Given the description of an element on the screen output the (x, y) to click on. 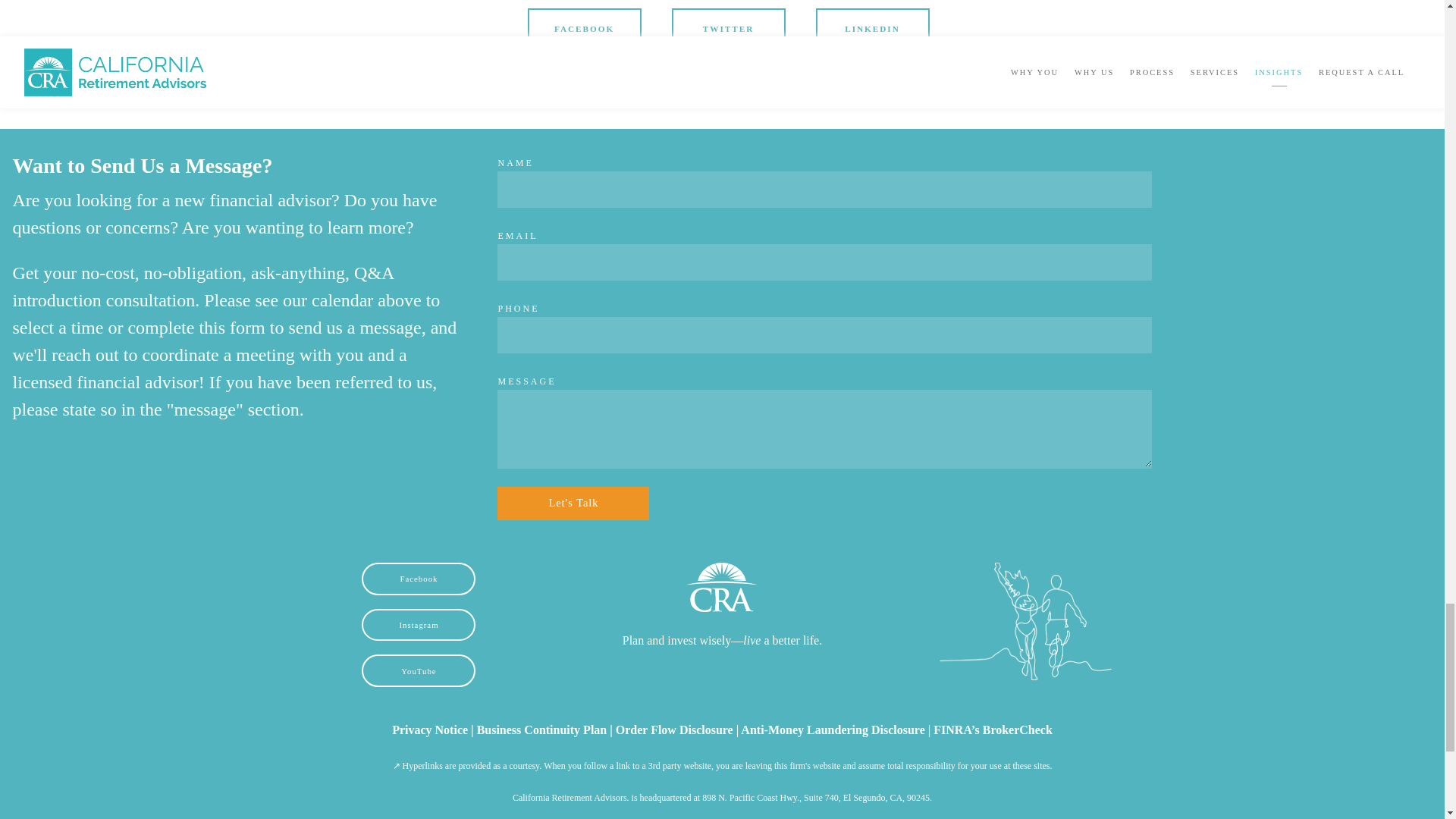
YouTube (418, 670)
Facebook (418, 578)
Order Flow Disclosure (674, 729)
Let'S Talk (573, 503)
Business Continuity Plan (542, 729)
Privacy Notice (429, 729)
FACEBOOK (584, 29)
TWITTER (728, 29)
LINKEDIN (872, 29)
Instagram (418, 625)
